Given the description of an element on the screen output the (x, y) to click on. 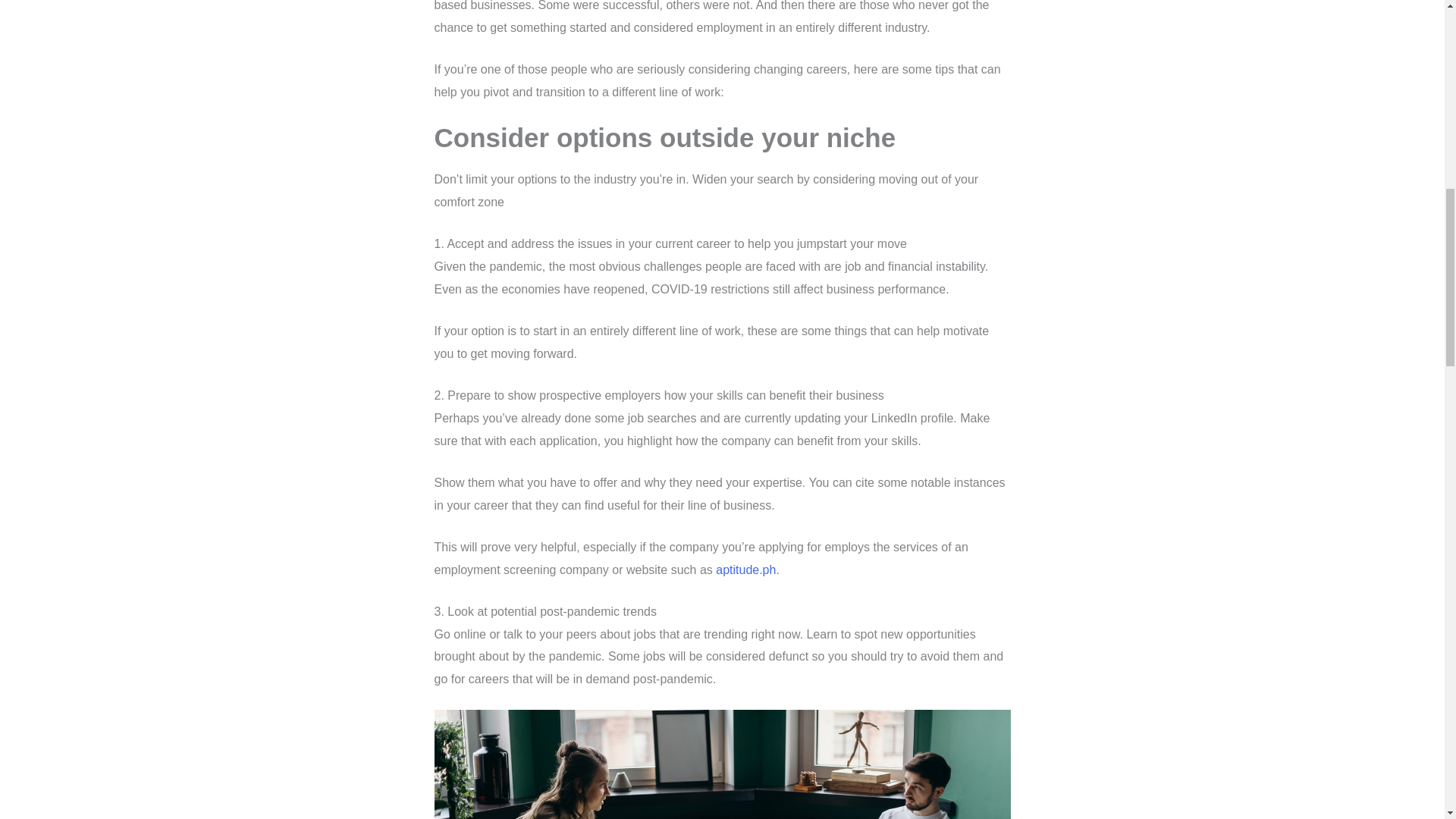
aptitude.ph (746, 569)
